Given the description of an element on the screen output the (x, y) to click on. 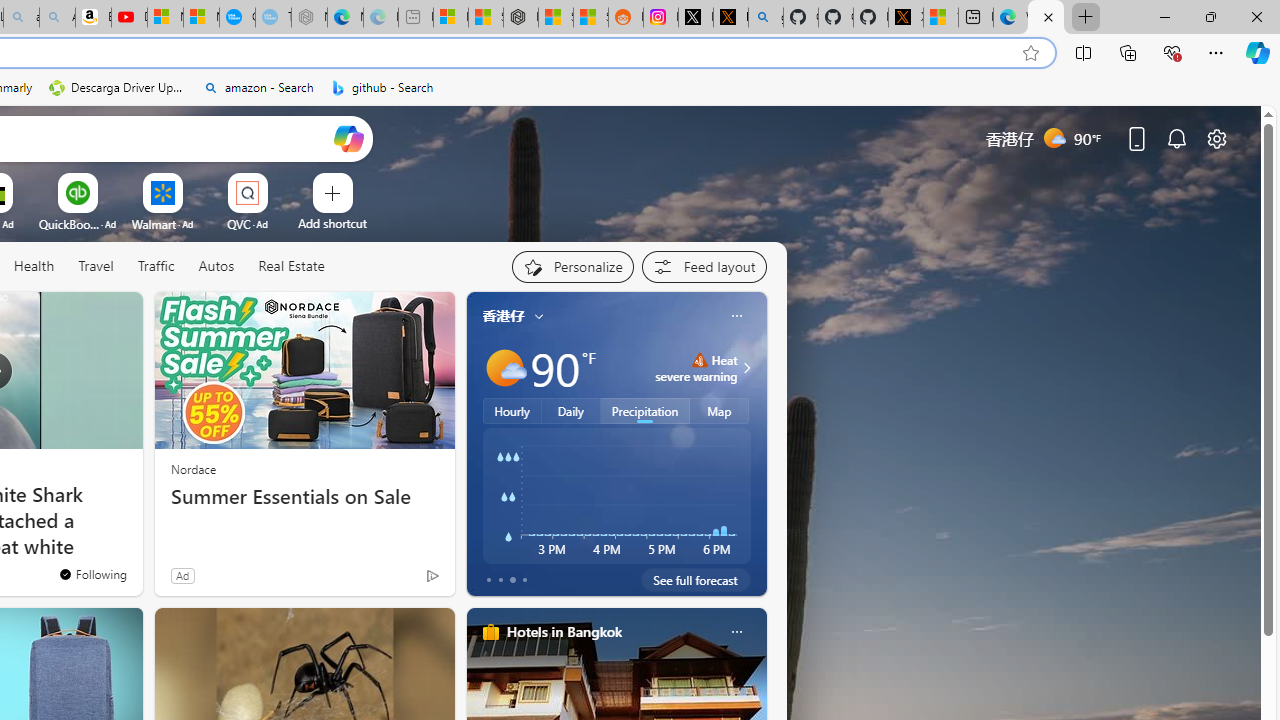
Opinion: Op-Ed and Commentary - USA TODAY (237, 17)
Hotels in Bangkok (563, 631)
Log in to X / X (695, 17)
Health (33, 267)
Notifications (1176, 138)
New Tab (1085, 17)
Summer Essentials on Sale (304, 497)
Mostly sunny (504, 368)
Personalize your feed" (571, 266)
Minimize (1164, 16)
Restore (1210, 16)
